Given the description of an element on the screen output the (x, y) to click on. 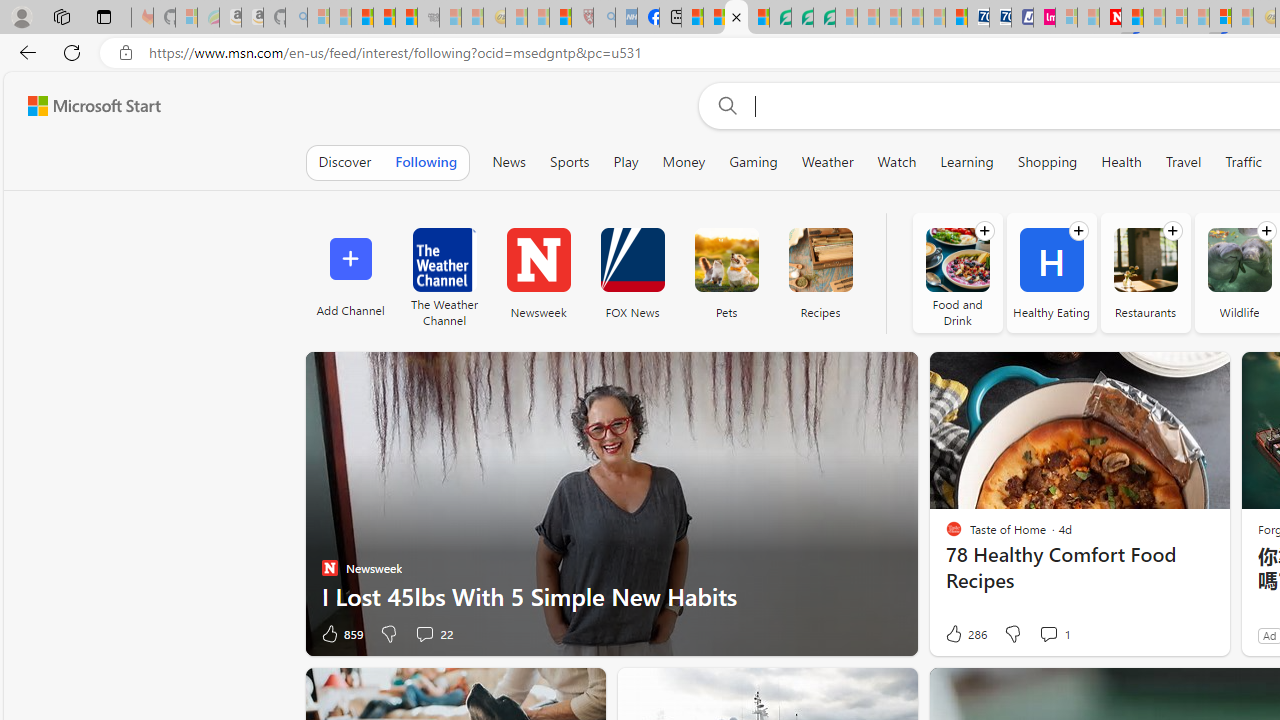
Recipes (820, 260)
Food and Drink (957, 260)
